Given the description of an element on the screen output the (x, y) to click on. 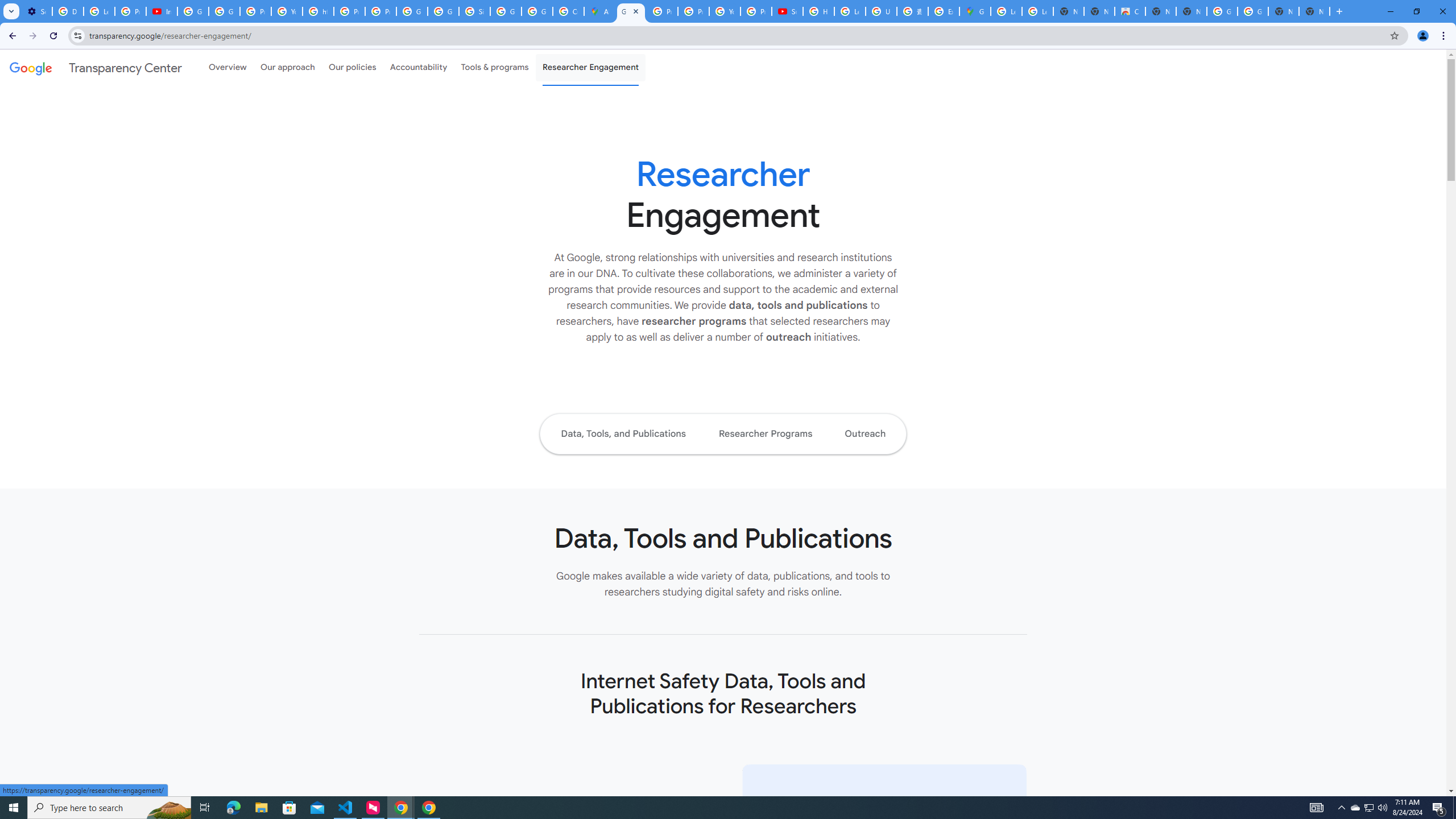
Privacy Help Center - Policies Help (662, 11)
YouTube (286, 11)
Settings - Performance (36, 11)
Accountability (418, 67)
Tools & programs (494, 67)
New Tab (1314, 11)
Privacy Help Center - Policies Help (693, 11)
